Given the description of an element on the screen output the (x, y) to click on. 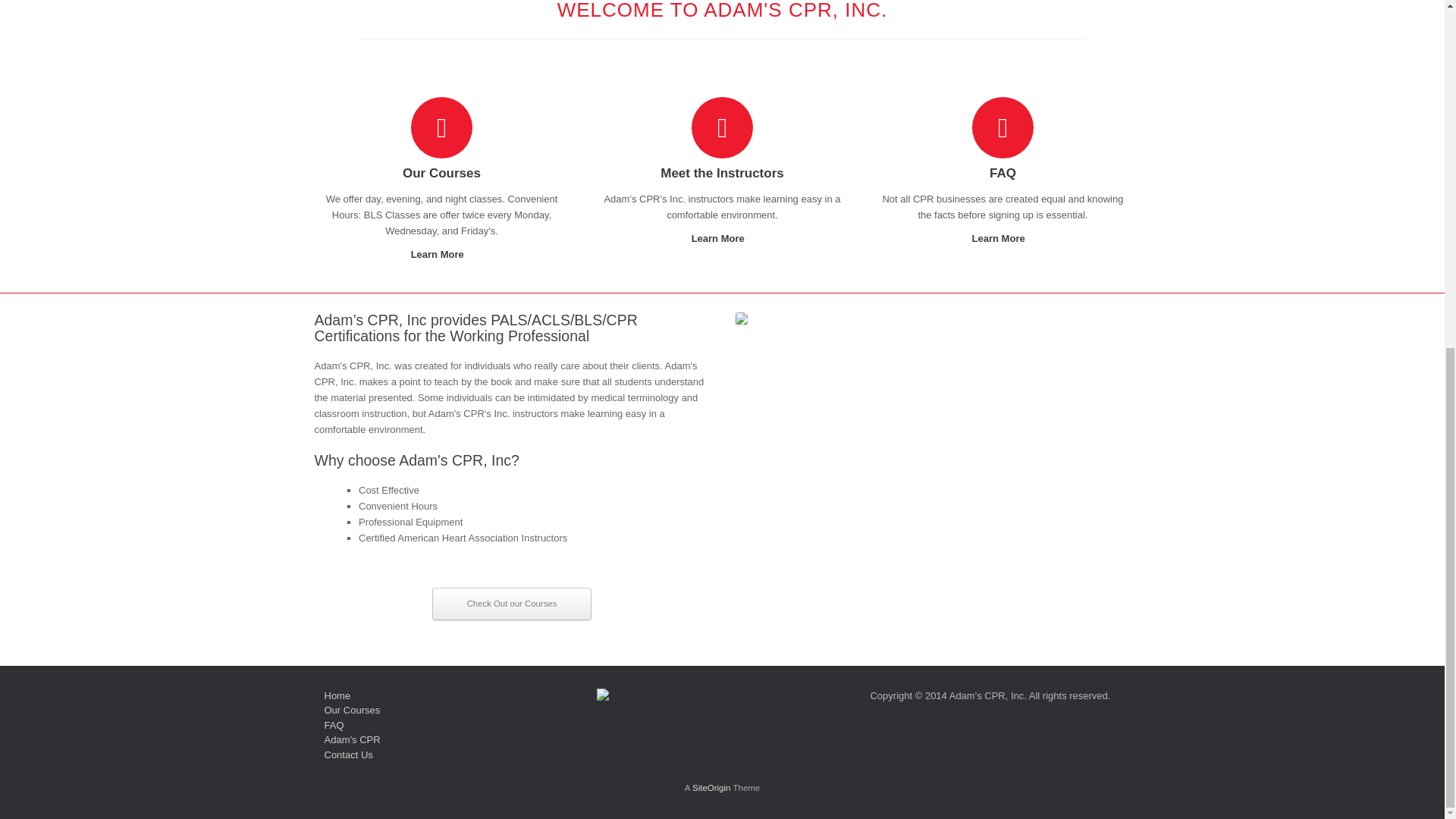
CPR Courses (352, 709)
Adams CPR Dallas (337, 695)
Contact Adams CPR (348, 754)
FAQ (333, 725)
Our Courses (442, 173)
Meet the Instructors (721, 173)
Home (337, 695)
About Adams CPR (352, 739)
Learn More (442, 254)
SiteOrigin (711, 787)
